Given the description of an element on the screen output the (x, y) to click on. 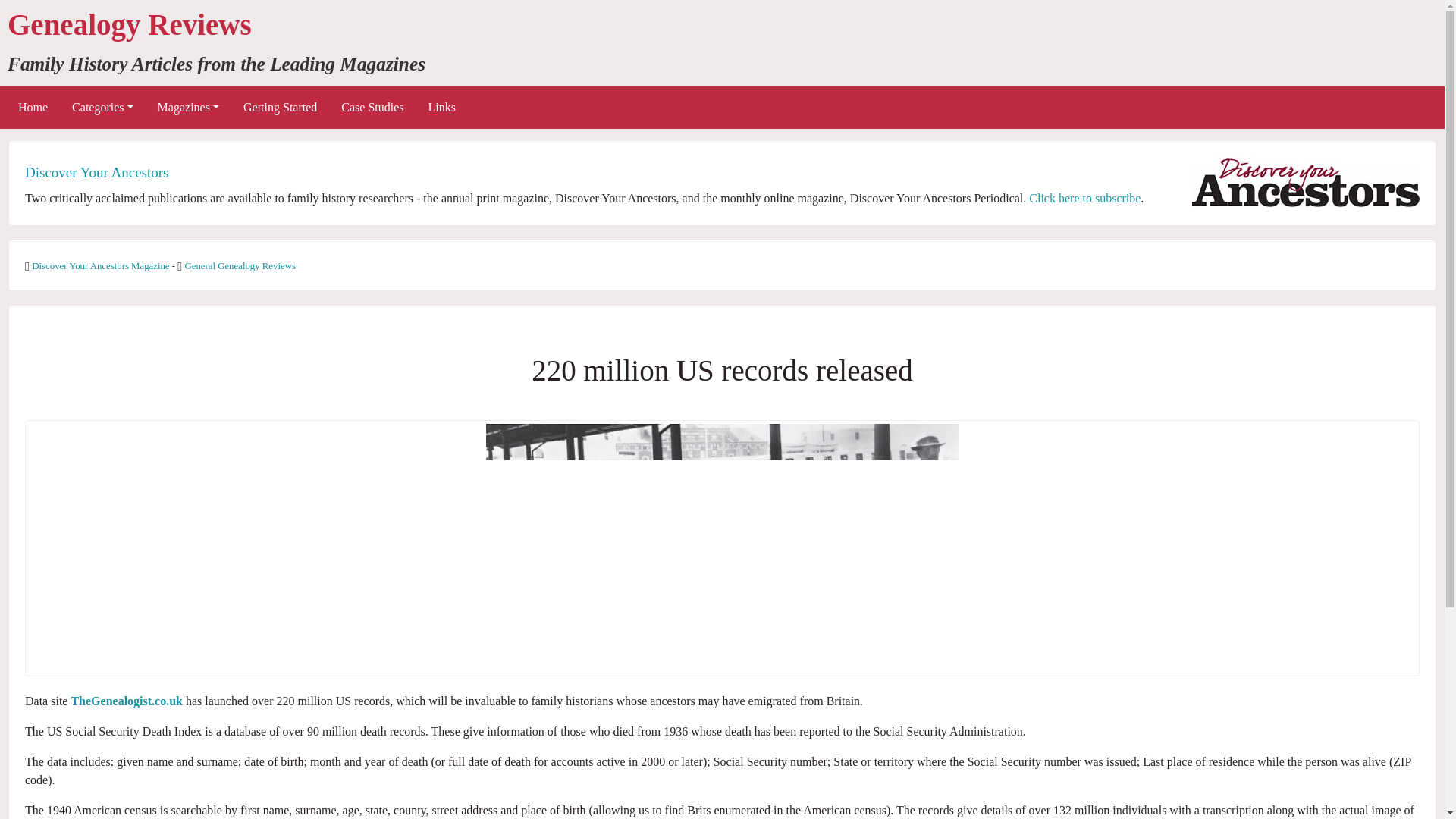
TheGenealogist.co.uk (126, 700)
Case Studies (371, 107)
Links (441, 107)
General Genealogy Reviews (239, 266)
Home (32, 107)
Discover Your Ancestors (96, 172)
Discover Your Ancestors Magazine (101, 266)
Magazines (188, 107)
Getting Started (280, 107)
Categories (102, 107)
Click here to subscribe (1084, 197)
